Given the description of an element on the screen output the (x, y) to click on. 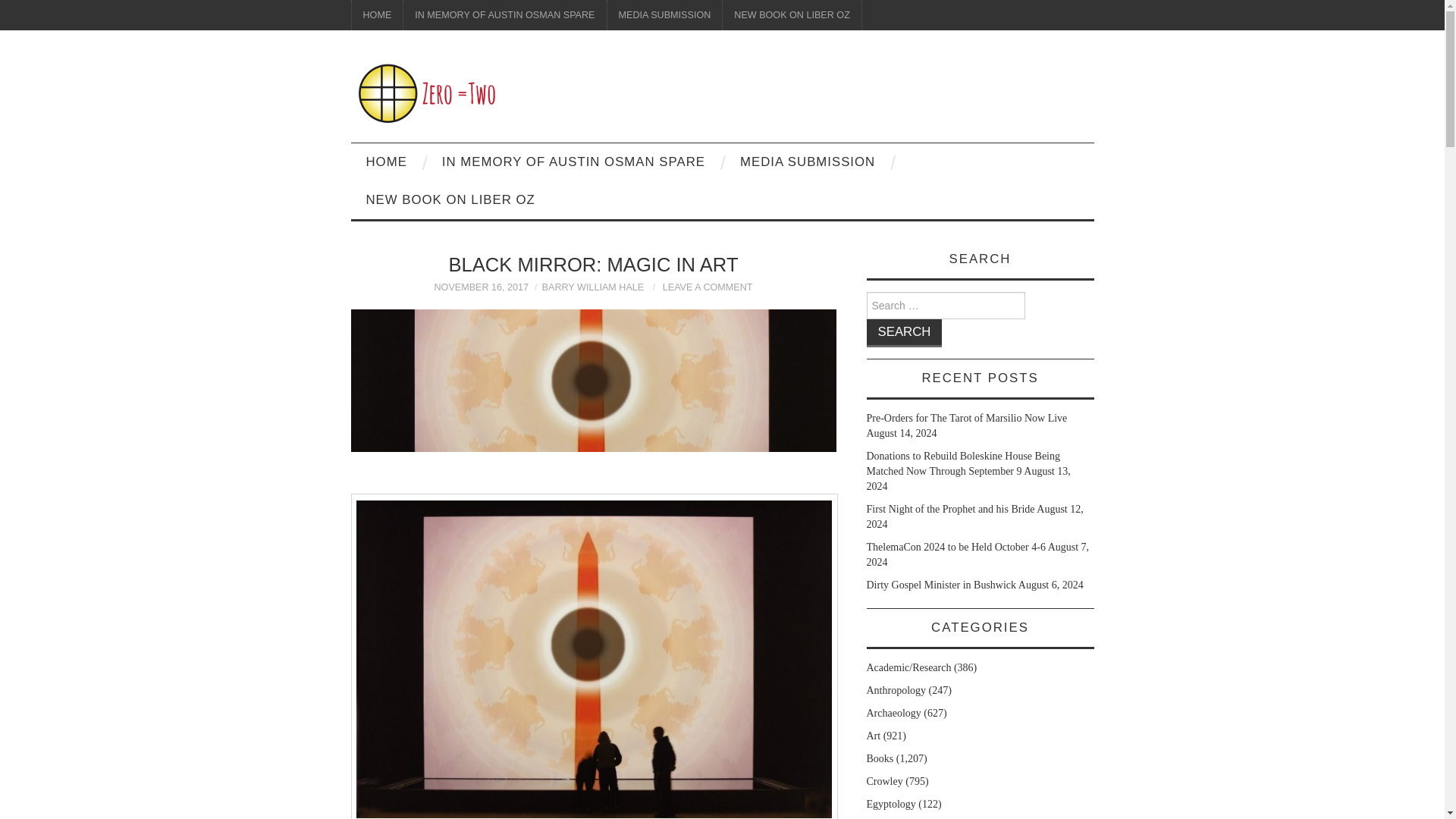
MEDIA SUBMISSION (807, 161)
IN MEMORY OF AUSTIN OSMAN SPARE (504, 15)
Search (904, 333)
BARRY WILLIAM HALE (593, 286)
Zero Equals Two! (426, 92)
Pre-Orders for The Tarot of Marsilio Now Live (966, 418)
NOVEMBER 16, 2017 (480, 286)
First Night of the Prophet and his Bride (949, 509)
MEDIA SUBMISSION (664, 15)
